Given the description of an element on the screen output the (x, y) to click on. 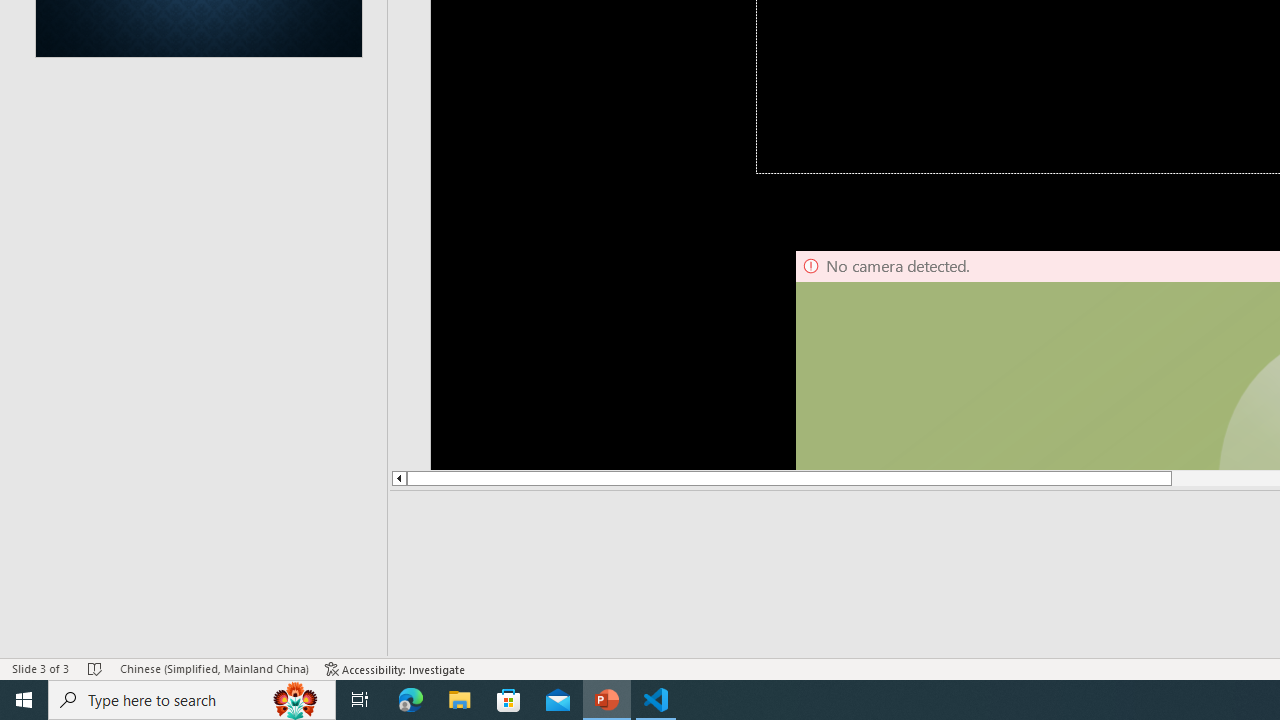
Line up (398, 478)
Spell Check No Errors (95, 668)
Accessibility Checker Accessibility: Investigate (395, 668)
